Given the description of an element on the screen output the (x, y) to click on. 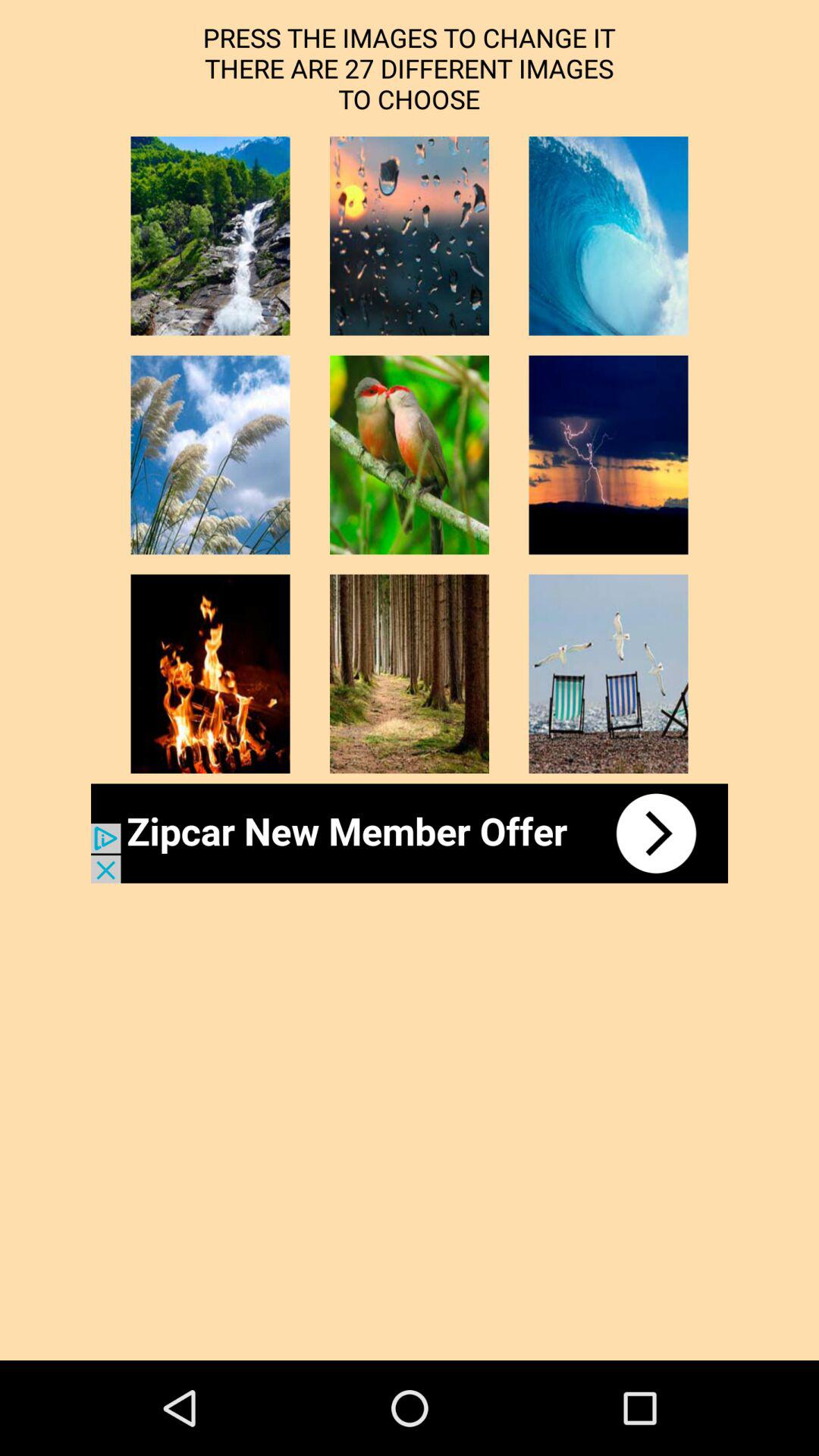
thumbnail (409, 235)
